Given the description of an element on the screen output the (x, y) to click on. 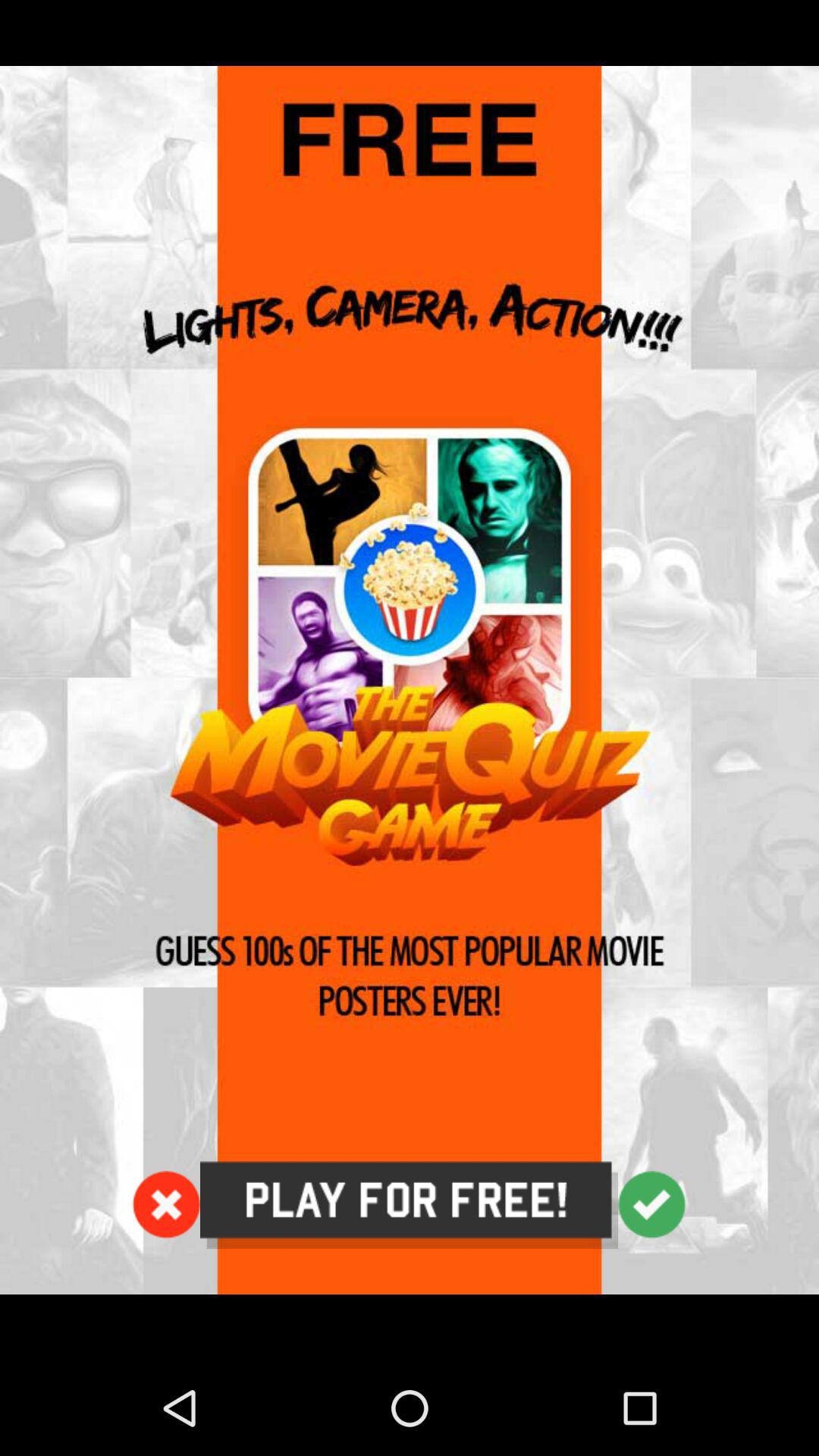
click item at the bottom right corner (651, 1204)
